Given the description of an element on the screen output the (x, y) to click on. 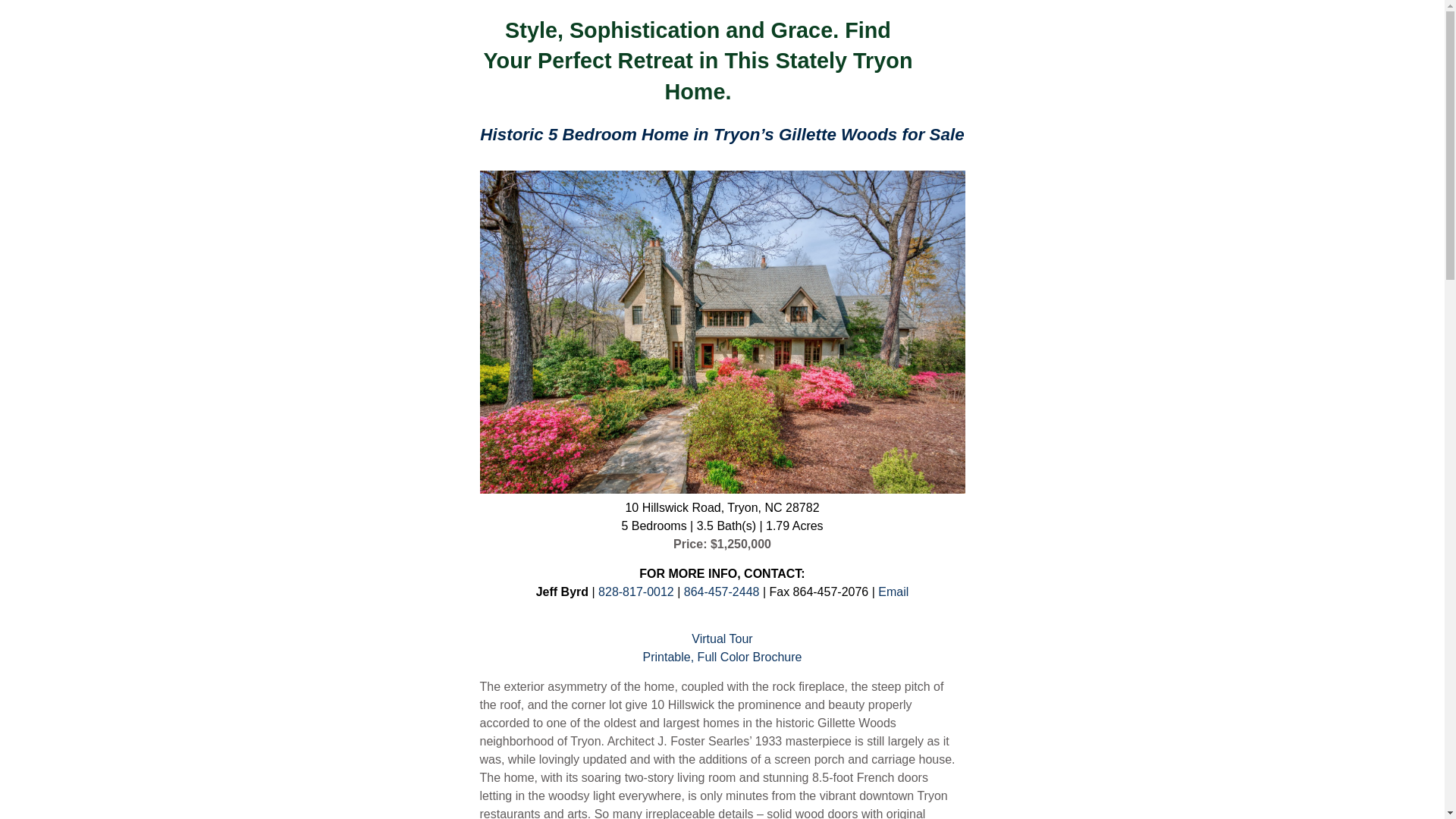
Virtual Tour (721, 638)
864-457-2448 (723, 591)
Printable, Full Color Brochure (722, 656)
Email (892, 591)
828-817-0012 (636, 591)
